Given the description of an element on the screen output the (x, y) to click on. 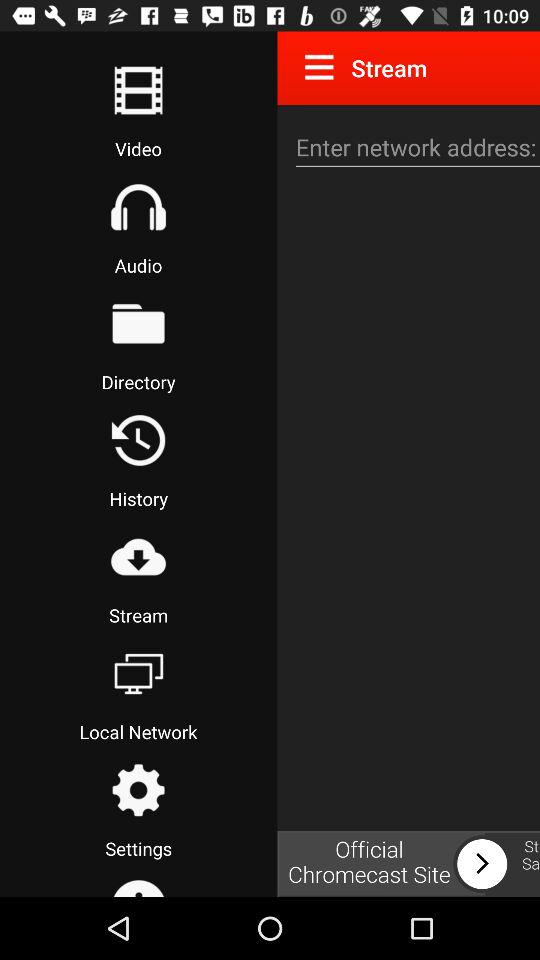
history (138, 440)
